Given the description of an element on the screen output the (x, y) to click on. 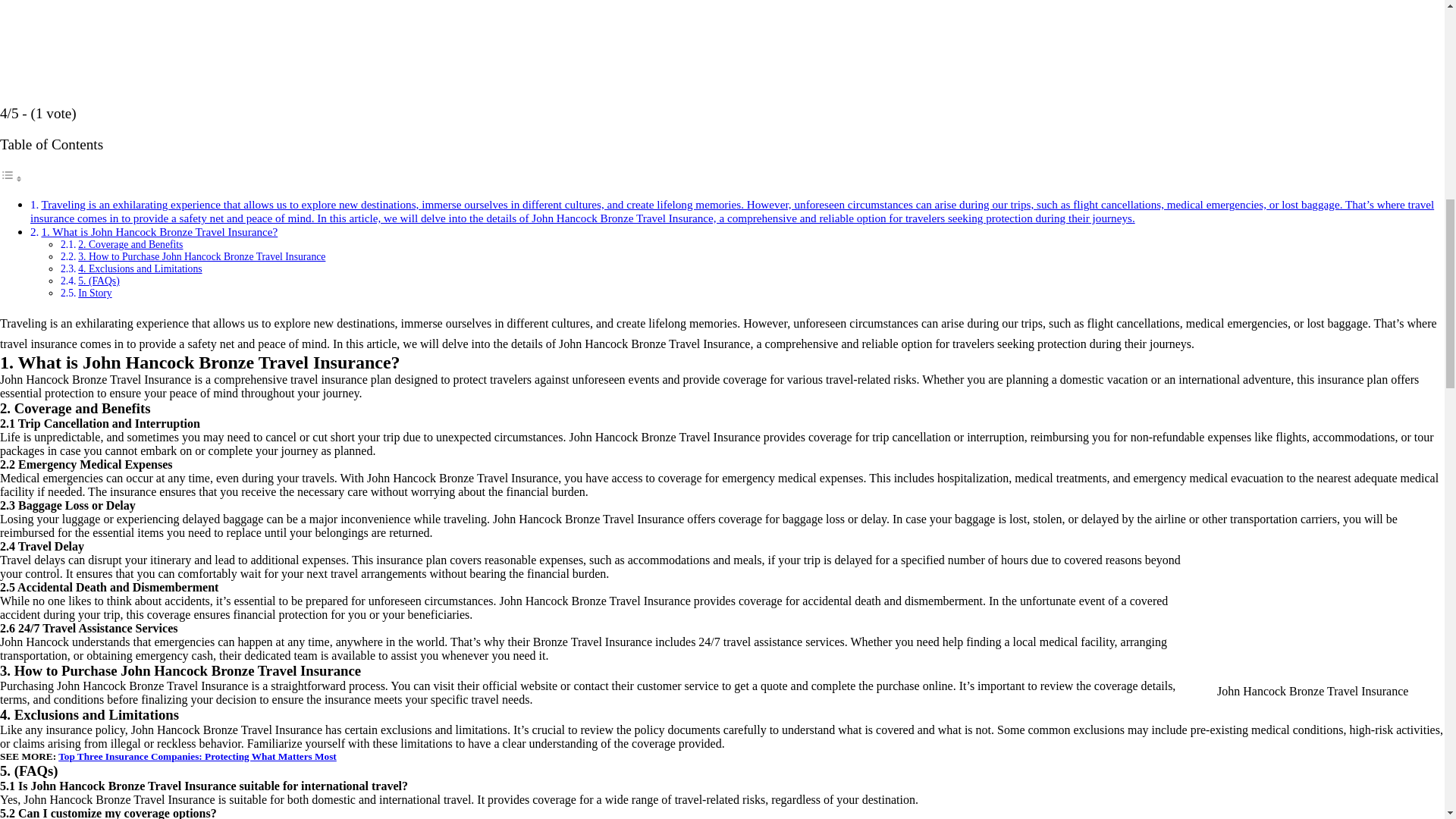
3. How to Purchase John Hancock Bronze Travel Insurance (201, 256)
Top Three Insurance Companies: Protecting What Matters Most (197, 756)
2. Coverage and Benefits (130, 244)
1. What is John Hancock Bronze Travel Insurance? (159, 231)
3. How to Purchase John Hancock Bronze Travel Insurance (201, 256)
4. Exclusions and Limitations (140, 268)
4. Exclusions and Limitations (140, 268)
2. Coverage and Benefits (130, 244)
1. What is John Hancock Bronze Travel Insurance? (159, 231)
In Story (95, 292)
